Given the description of an element on the screen output the (x, y) to click on. 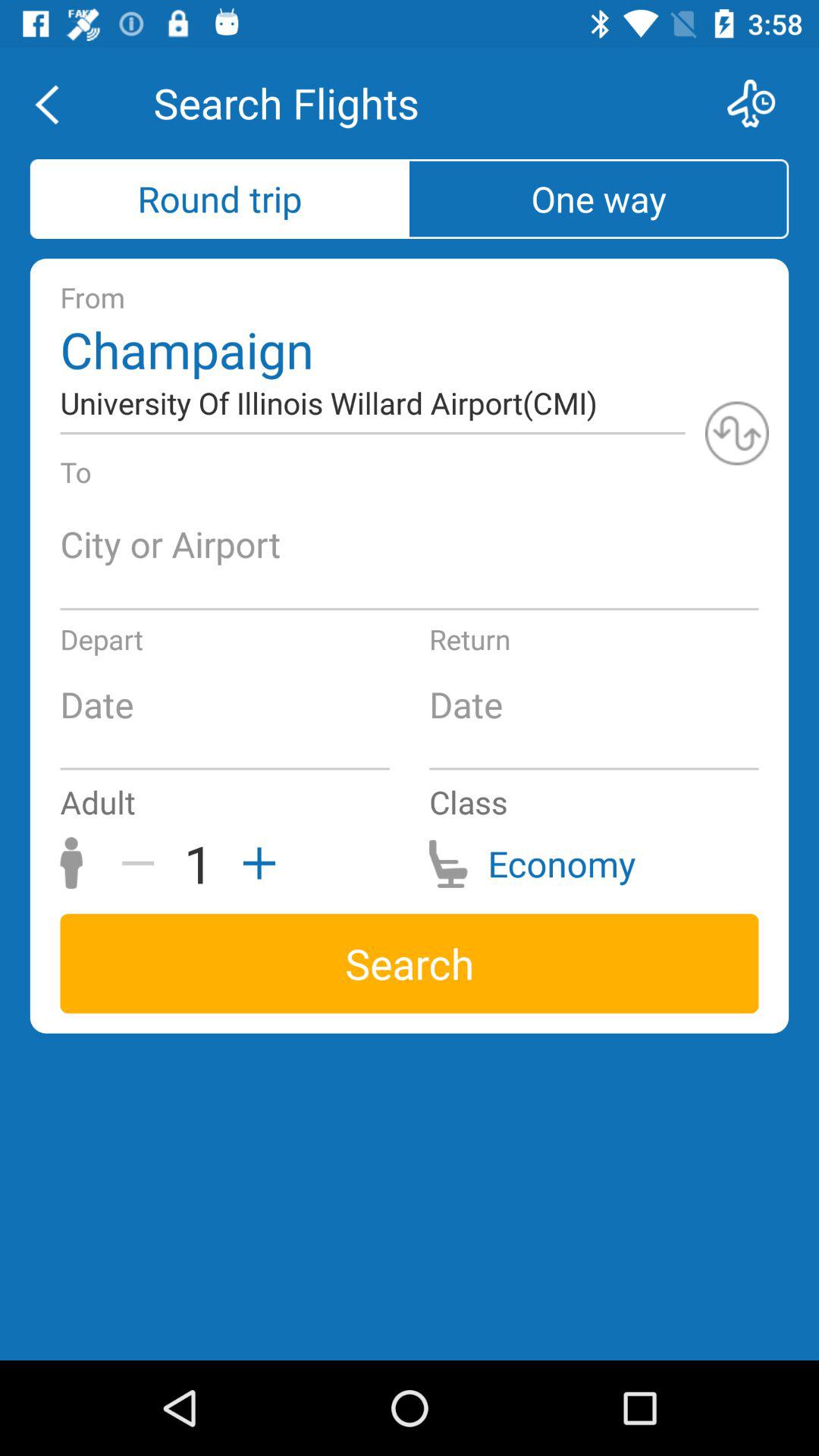
swipe until round trip (219, 198)
